Given the description of an element on the screen output the (x, y) to click on. 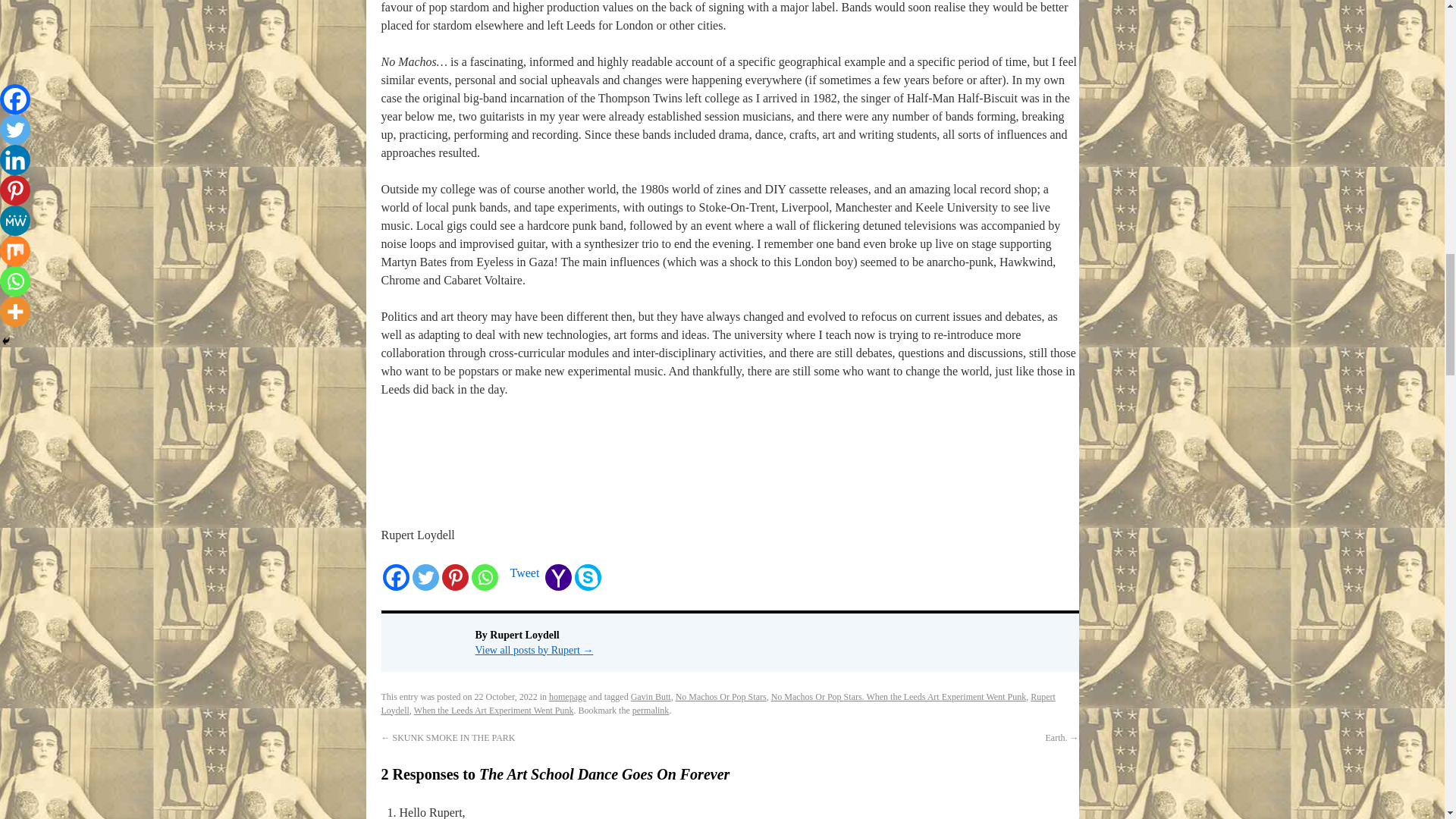
Pinterest (454, 577)
When the Leeds Art Experiment Went Punk (493, 710)
Gavin Butt (650, 696)
Skype (588, 577)
Tweet (523, 573)
Twitter (425, 577)
permalink (650, 710)
homepage (567, 696)
Facebook (395, 577)
Rupert Loydell (717, 703)
No Machos Or Pop Stars (721, 696)
Yahoo Mail (558, 577)
Whatsapp (484, 577)
